Given the description of an element on the screen output the (x, y) to click on. 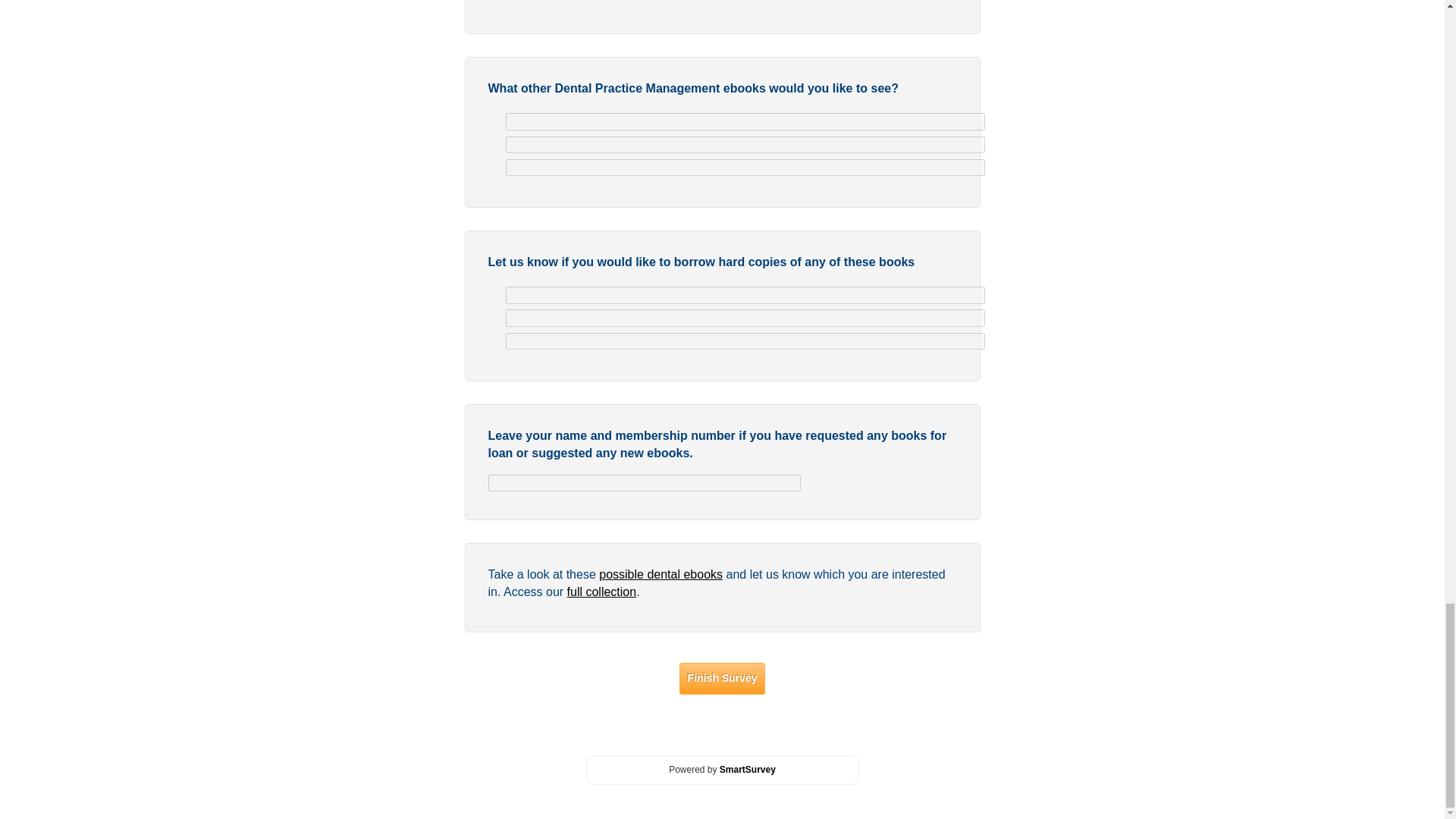
full collection (602, 591)
Finish Survey (722, 678)
possible dental ebooks (660, 574)
SmartSurvey (747, 769)
